Given the description of an element on the screen output the (x, y) to click on. 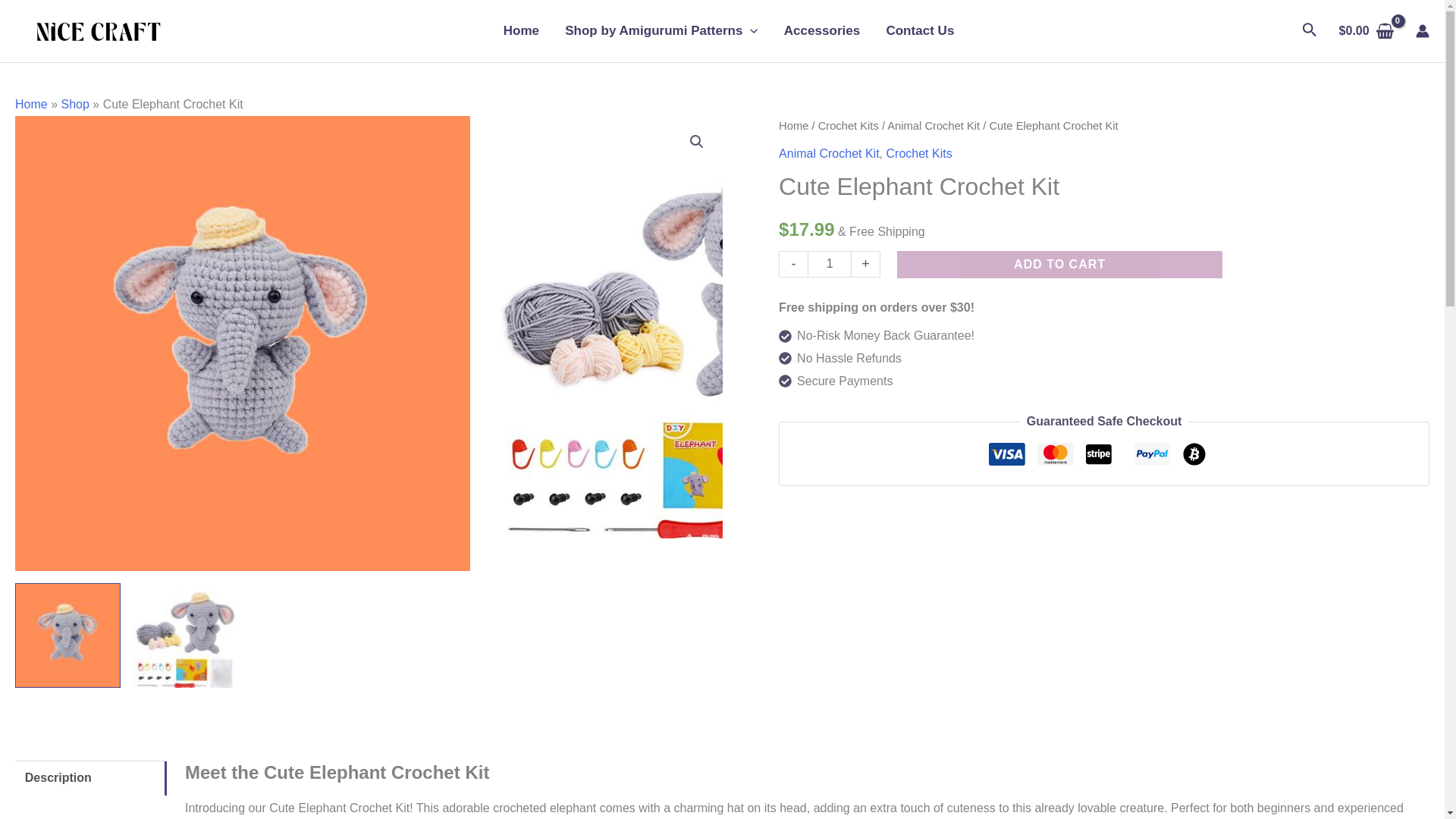
Accessories (822, 30)
Contact Us (912, 30)
Home (521, 30)
1 (829, 263)
Shop by Amigurumi Patterns (661, 30)
Log In (685, 629)
